Given the description of an element on the screen output the (x, y) to click on. 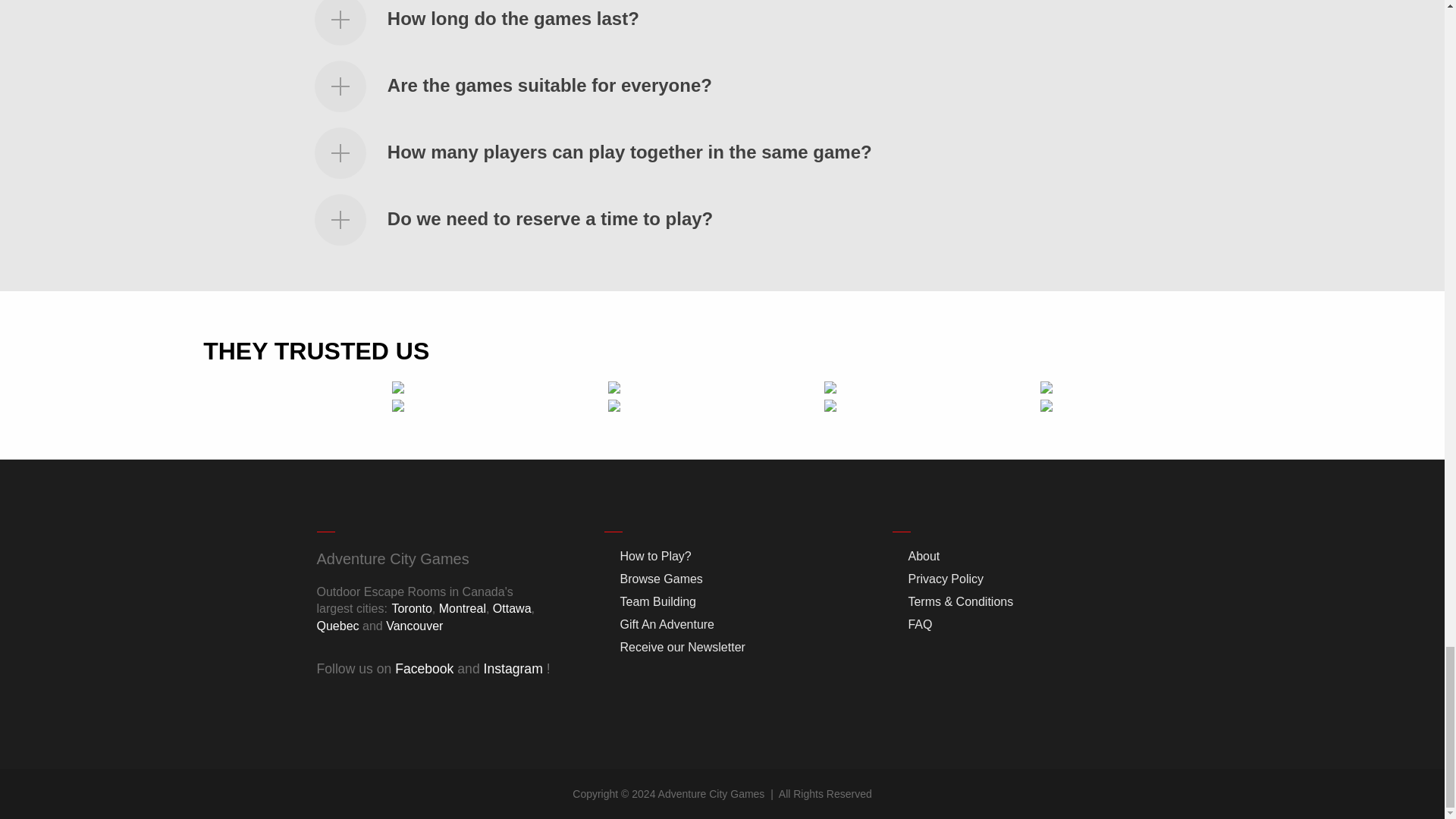
How many players can play together in the same game? (629, 151)
How long do the games last? (513, 18)
Are the games suitable for everyone? (549, 85)
